Given the description of an element on the screen output the (x, y) to click on. 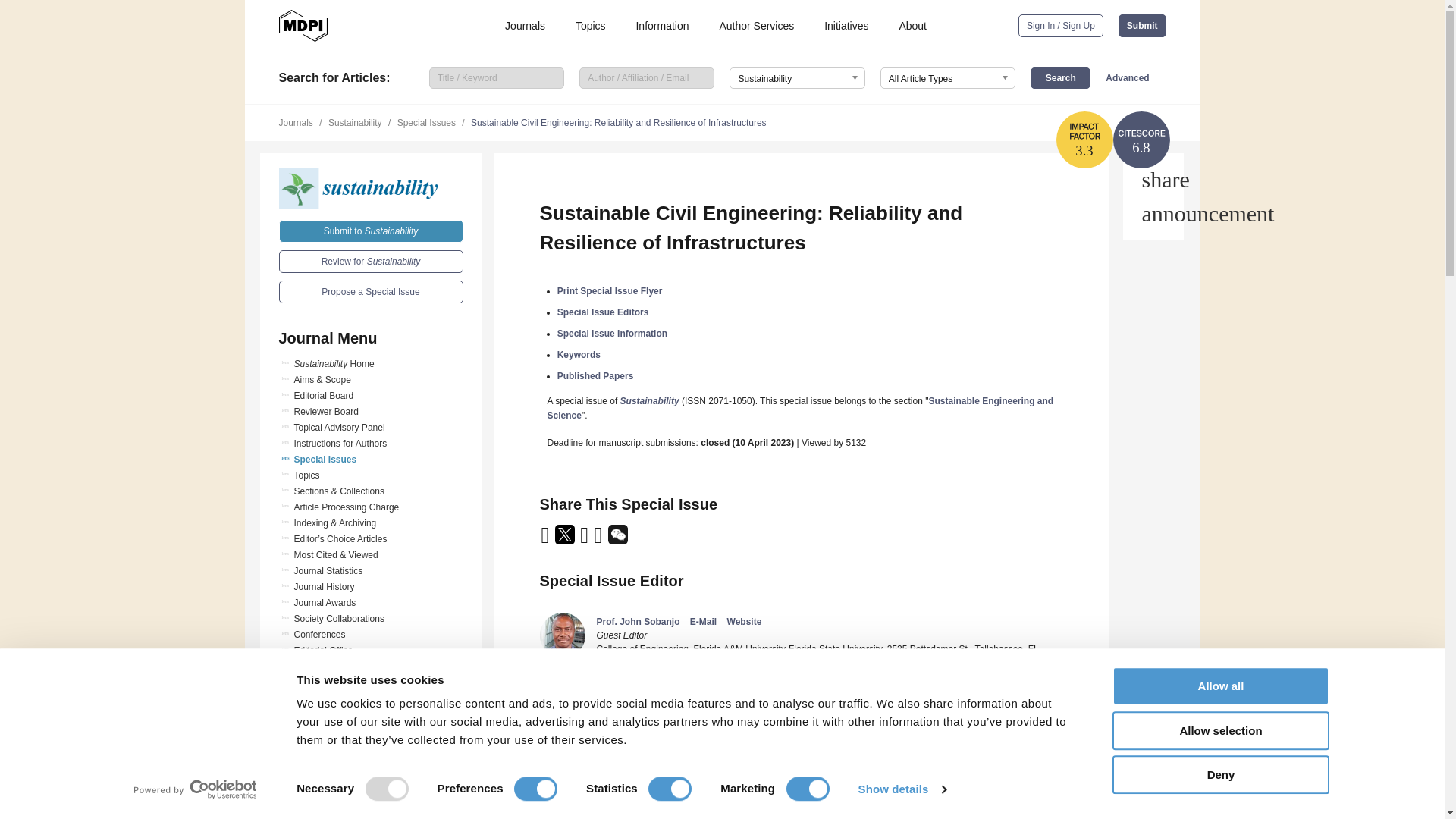
Search (1060, 77)
Search (1060, 77)
Show details (900, 789)
Go (371, 771)
